Given the description of an element on the screen output the (x, y) to click on. 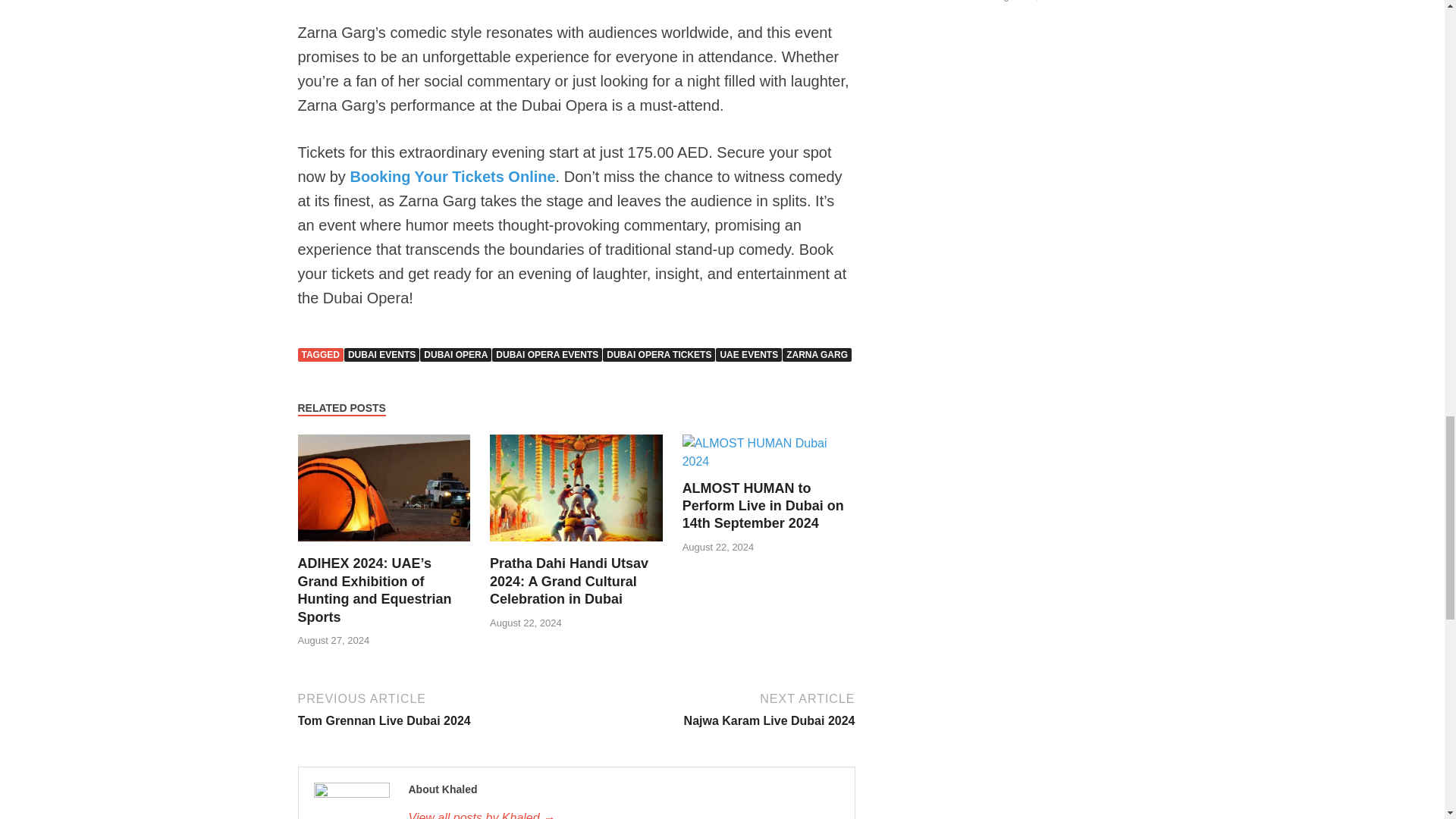
Booking Your Tickets Online (451, 176)
DUBAI OPERA (456, 354)
Khaled (622, 814)
DUBAI OPERA EVENTS (547, 354)
DUBAI EVENTS (381, 354)
ALMOST HUMAN to Perform Live in Dubai on 14th September 2024 (769, 461)
UAE EVENTS (748, 354)
DUBAI OPERA TICKETS (658, 354)
